Given the description of an element on the screen output the (x, y) to click on. 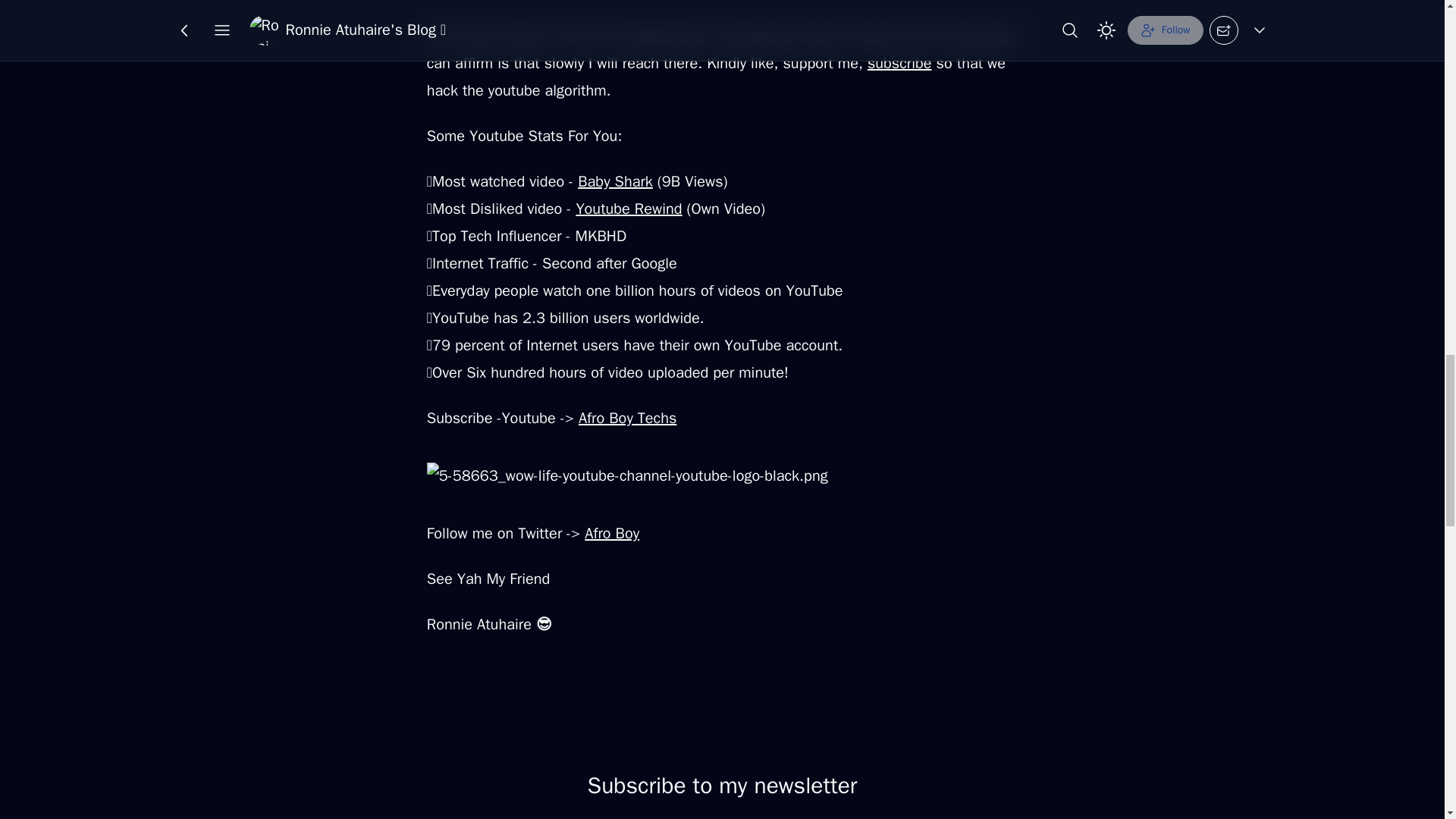
Baby Shark (615, 180)
Afro Boy Techs (627, 417)
subscribe (899, 63)
Youtube Rewind (628, 208)
Afro Boy (612, 533)
